Given the description of an element on the screen output the (x, y) to click on. 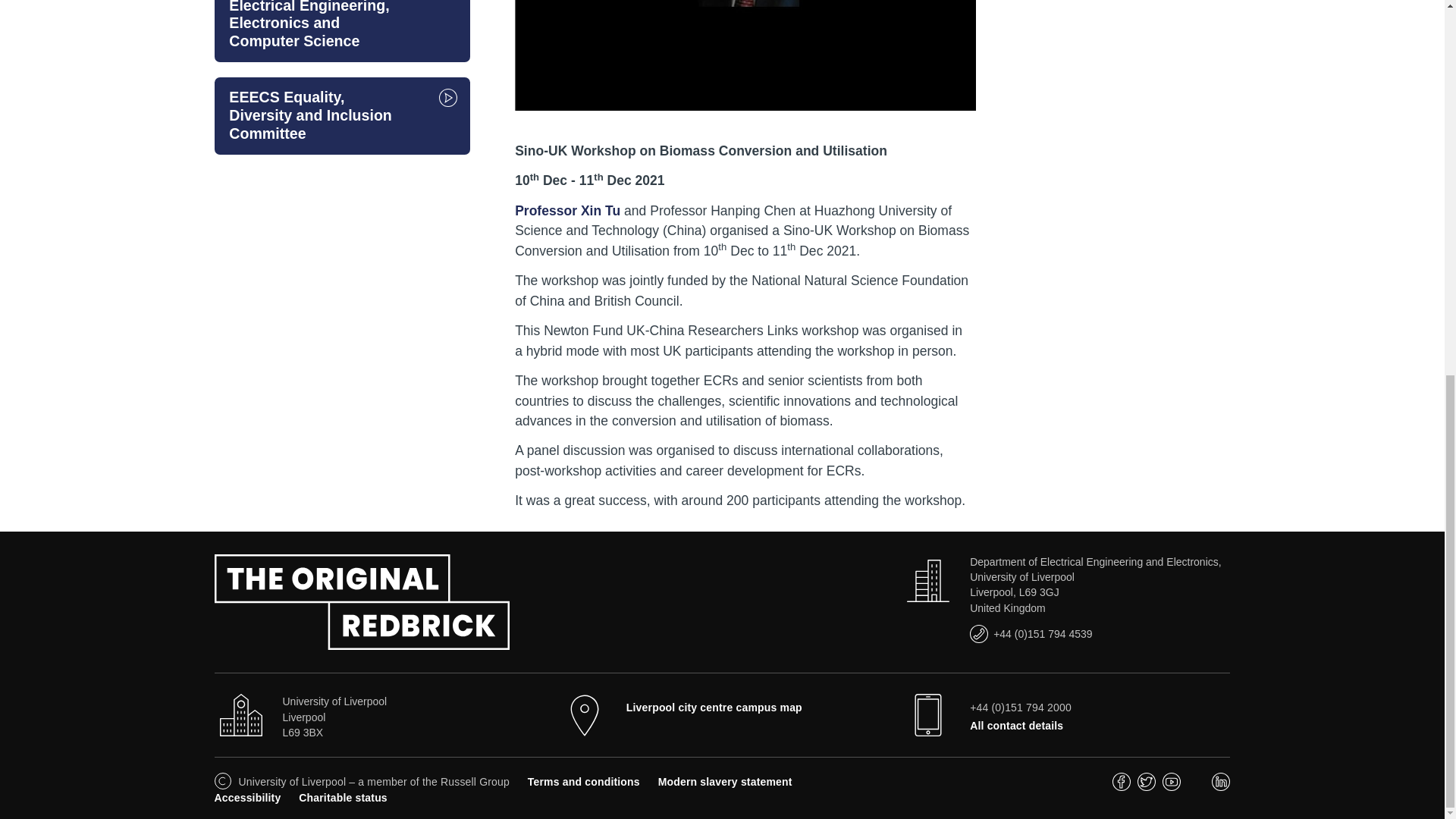
Contact us (1015, 725)
youtube (1170, 787)
Maps (714, 707)
Terms and Conditions (583, 781)
Modern slavery statement (725, 781)
facebook (1121, 787)
instagram (1196, 787)
linkedin (1220, 787)
twitter (1146, 787)
